Given the description of an element on the screen output the (x, y) to click on. 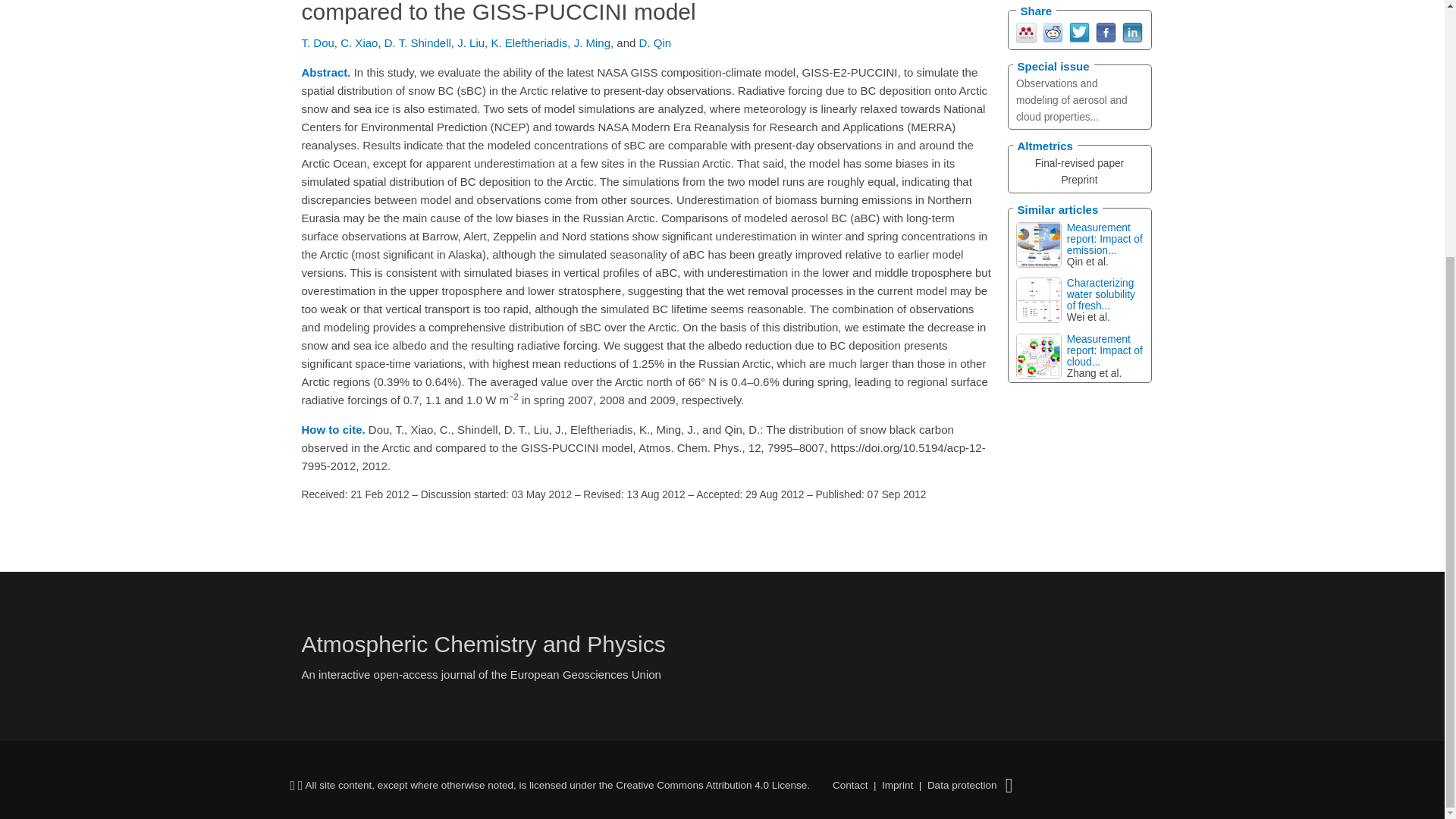
Twitter (1078, 31)
Reddit (1052, 31)
Mendeley (1026, 31)
